Given the description of an element on the screen output the (x, y) to click on. 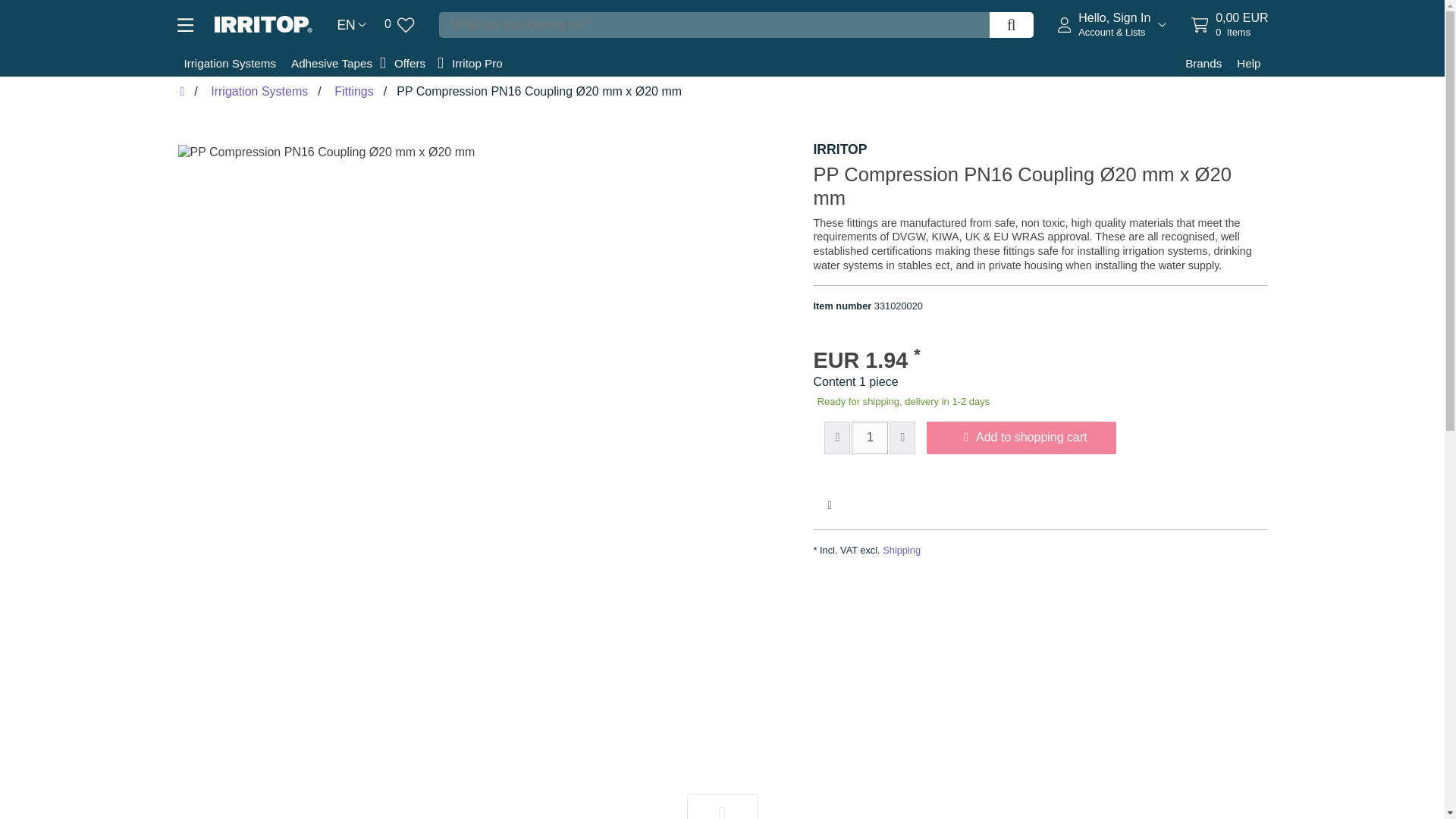
0 (399, 24)
irritop.com (263, 24)
Offers (411, 62)
1 (869, 437)
EN (1229, 24)
Shipping (351, 25)
Irrigation Systems (901, 550)
Adhesive Tapes (229, 62)
